Given the description of an element on the screen output the (x, y) to click on. 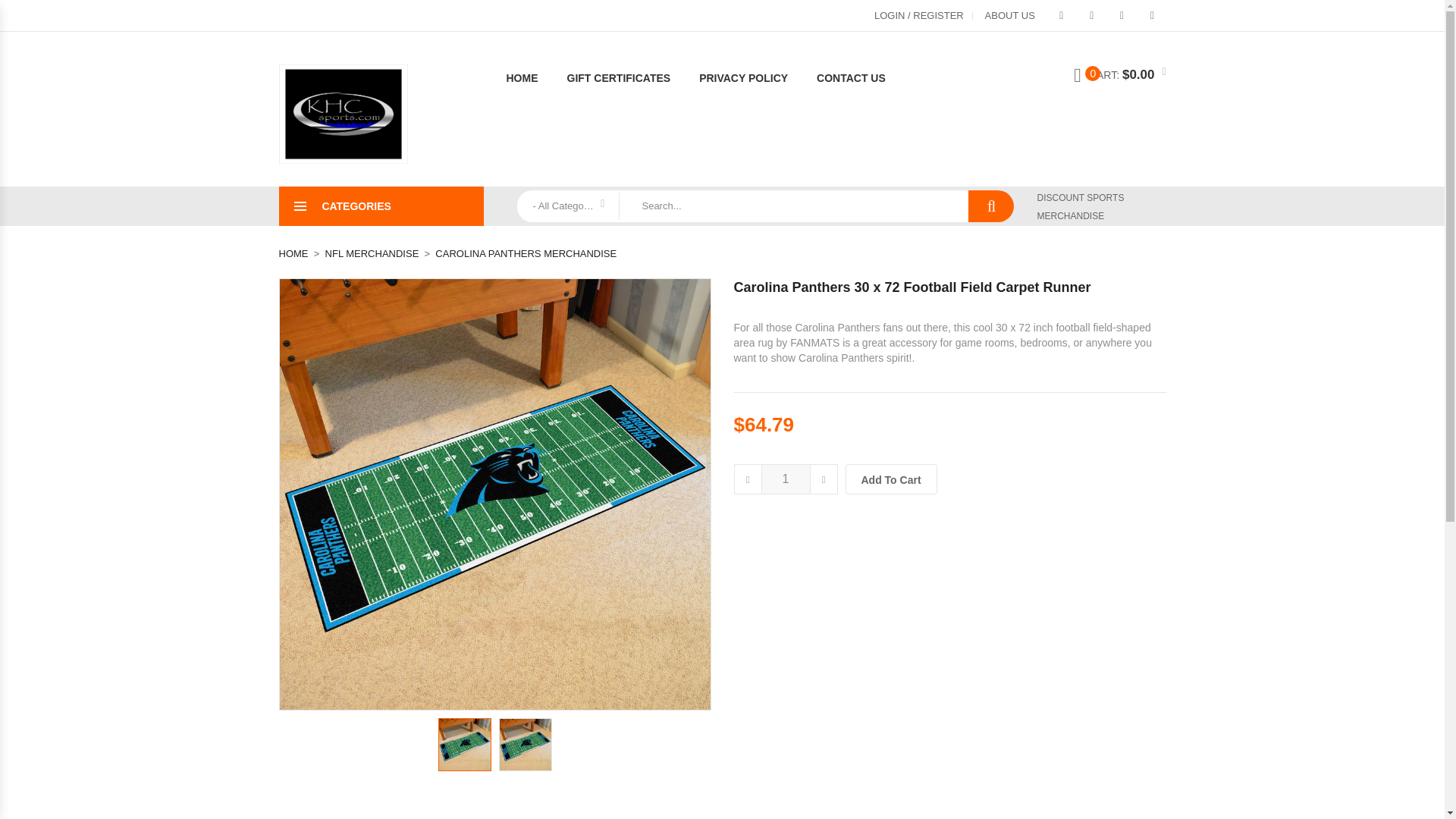
Home (529, 77)
ABOUT US (1009, 15)
1 (785, 479)
